Given the description of an element on the screen output the (x, y) to click on. 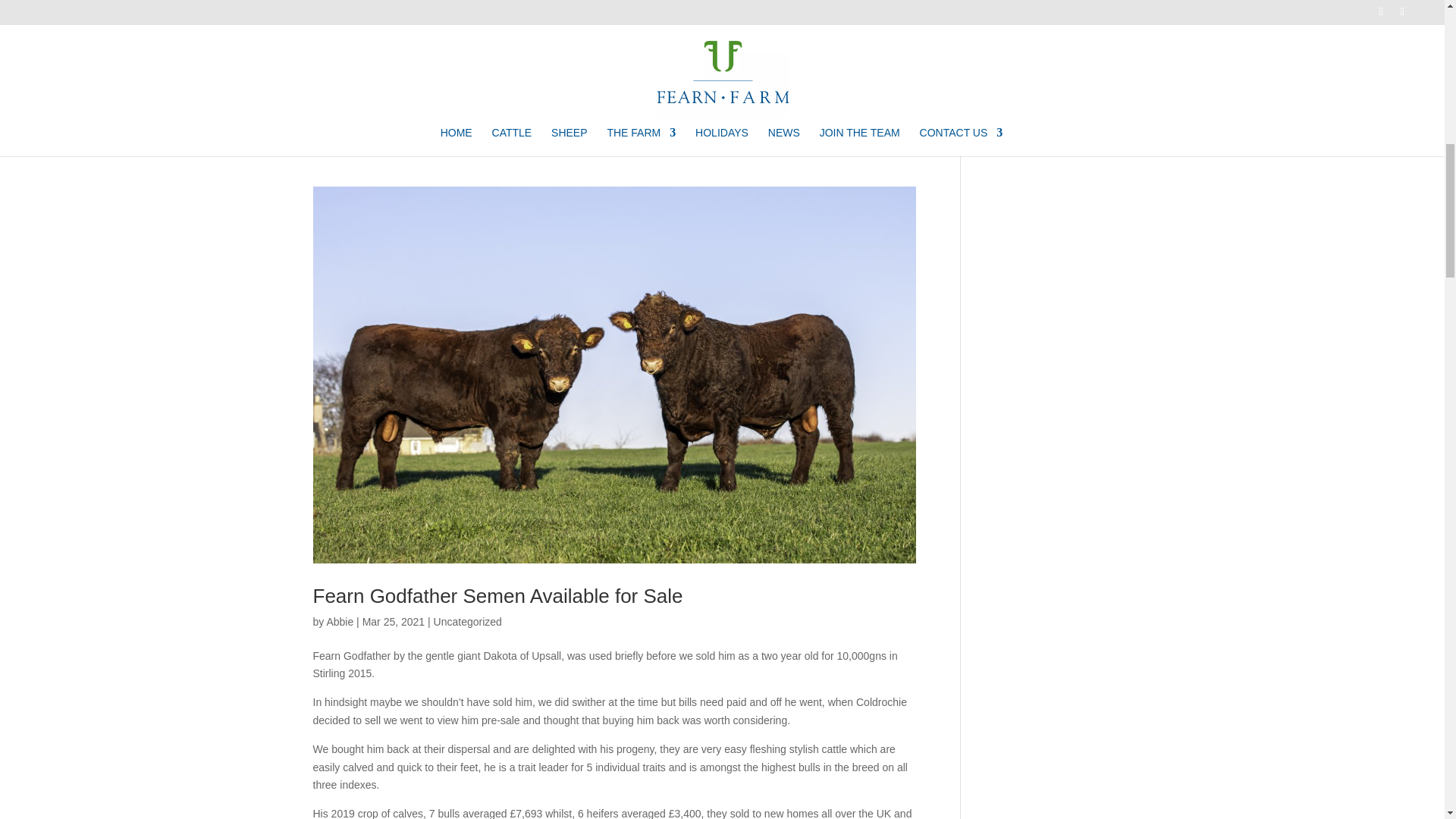
Abbie (339, 621)
Fearn Godfather Semen Available for Sale (497, 595)
Uncategorized (467, 621)
Posts by Abbie (339, 621)
